Given the description of an element on the screen output the (x, y) to click on. 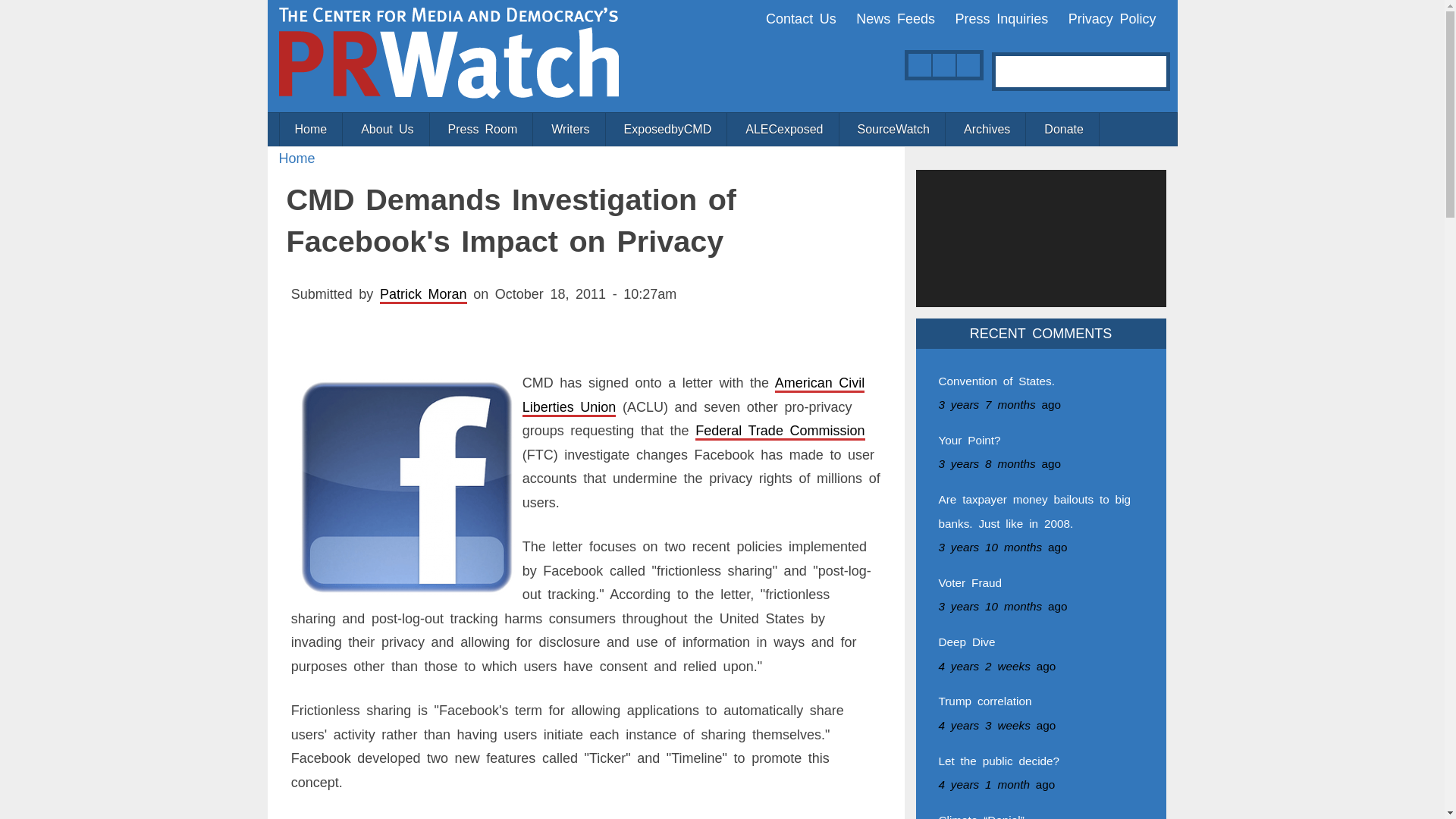
Home (297, 158)
News Feeds (895, 18)
Enter the terms you wish to search for. (1074, 71)
Follow CMD's Posts on Twitter (943, 64)
Federal Trade Commission (779, 430)
Search (1157, 67)
American Civil Liberties Union (693, 394)
Privacy Policy (1112, 18)
Subscribe to CMD's RSS Feeds (919, 64)
Facebook logo (406, 486)
